Given the description of an element on the screen output the (x, y) to click on. 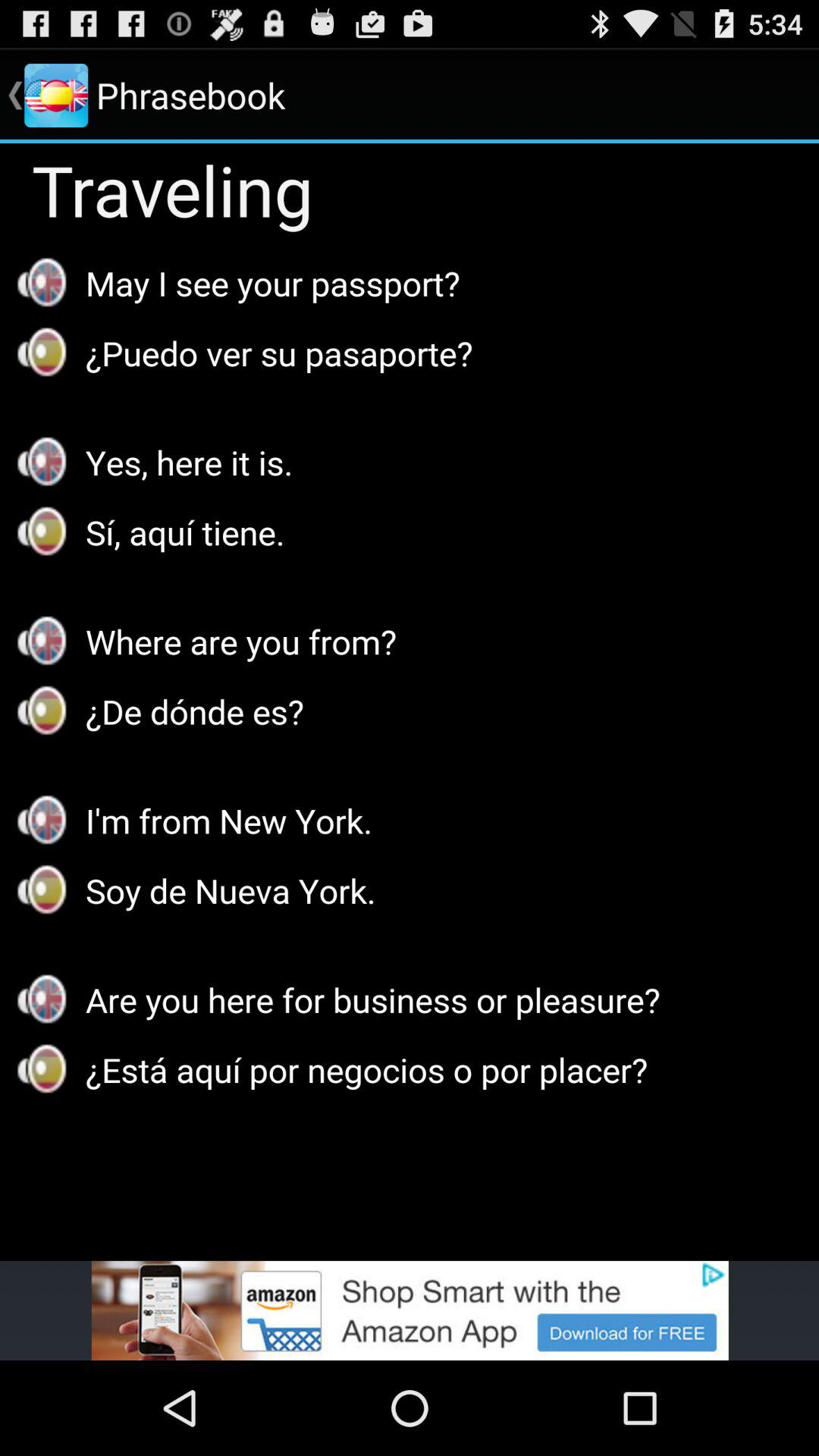
advertisement page (409, 1310)
